Given the description of an element on the screen output the (x, y) to click on. 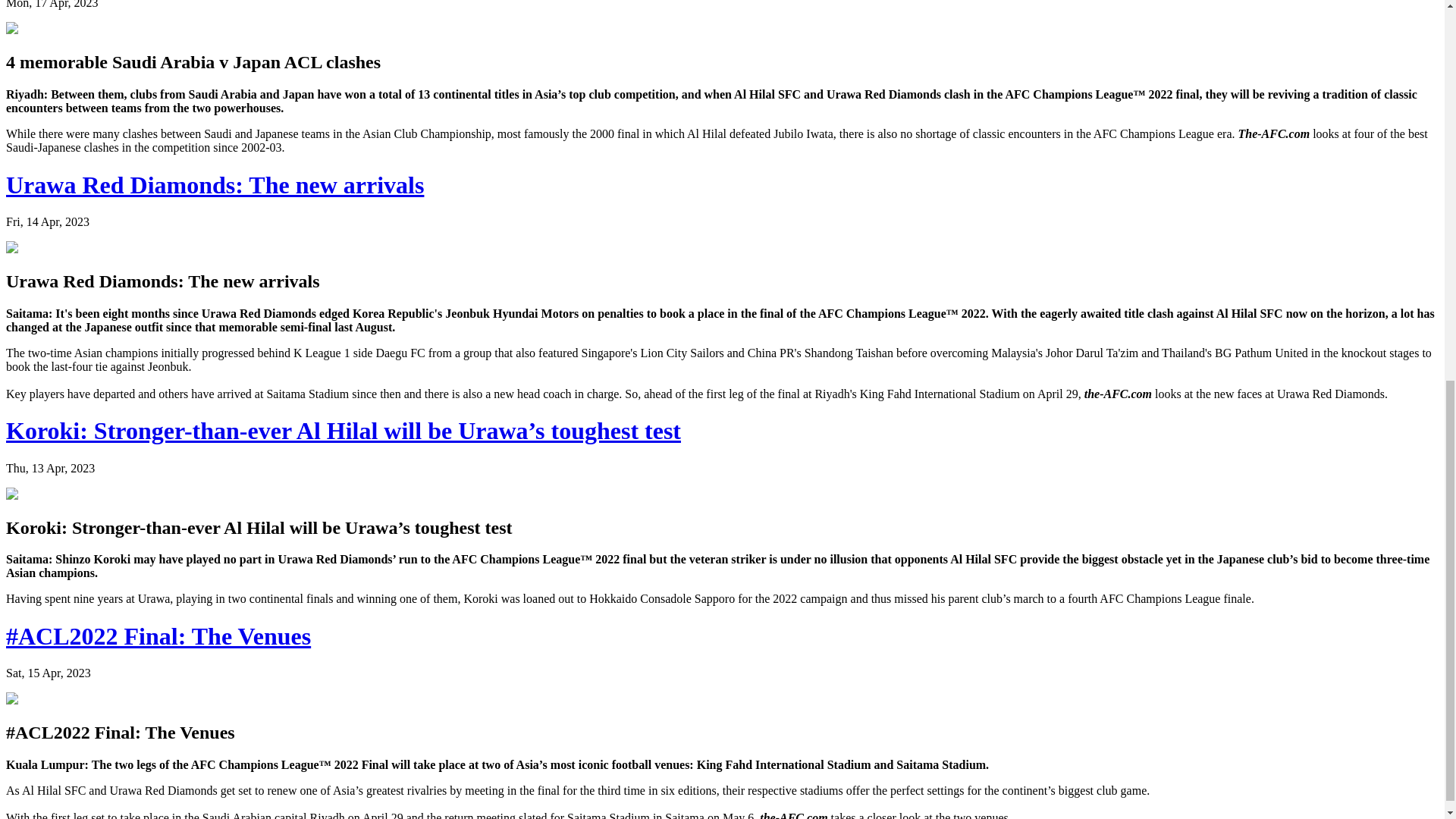
Urawa Red Diamonds: The new arrivals (214, 185)
